Given the description of an element on the screen output the (x, y) to click on. 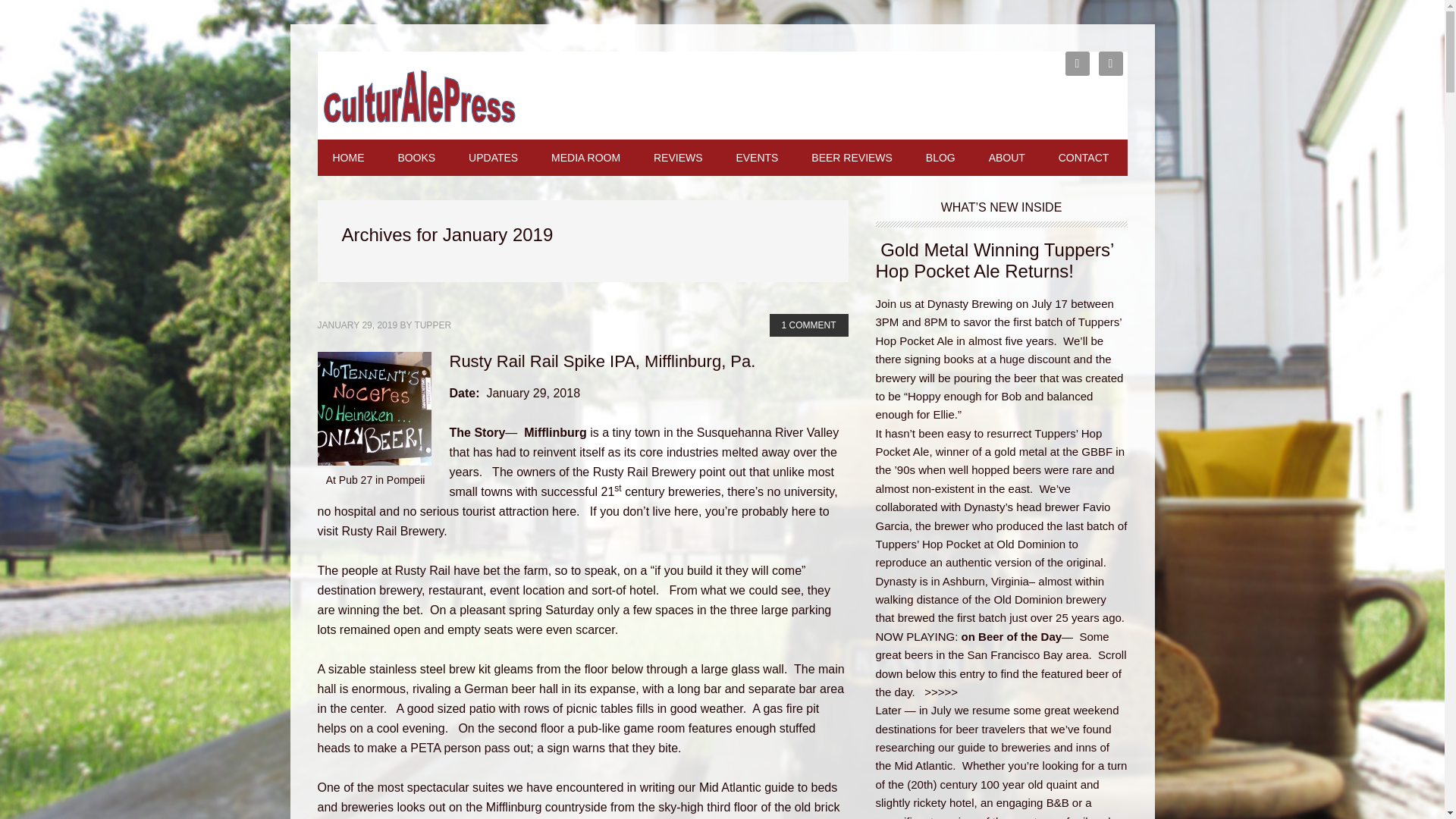
BEER REVIEWS (851, 157)
ABOUT (1007, 157)
TUPPER (432, 325)
EVENTS (756, 157)
1 COMMENT (807, 324)
HOME (347, 157)
BLOG (941, 157)
CULTURALE PRESS (419, 96)
REVIEWS (678, 157)
MEDIA ROOM (584, 157)
CONTACT (1083, 157)
UPDATES (492, 157)
BOOKS (415, 157)
